Given the description of an element on the screen output the (x, y) to click on. 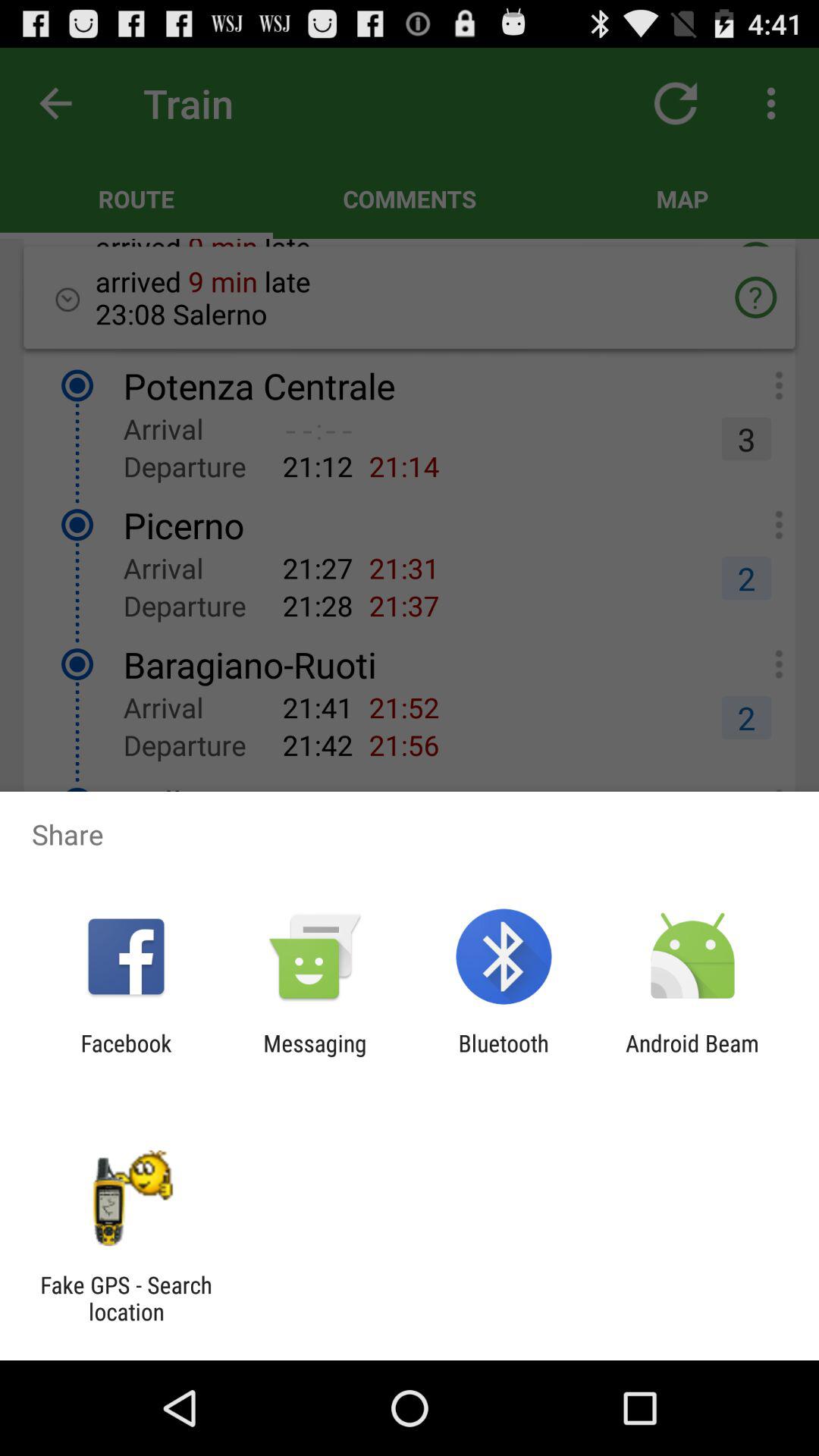
swipe until facebook (125, 1056)
